Given the description of an element on the screen output the (x, y) to click on. 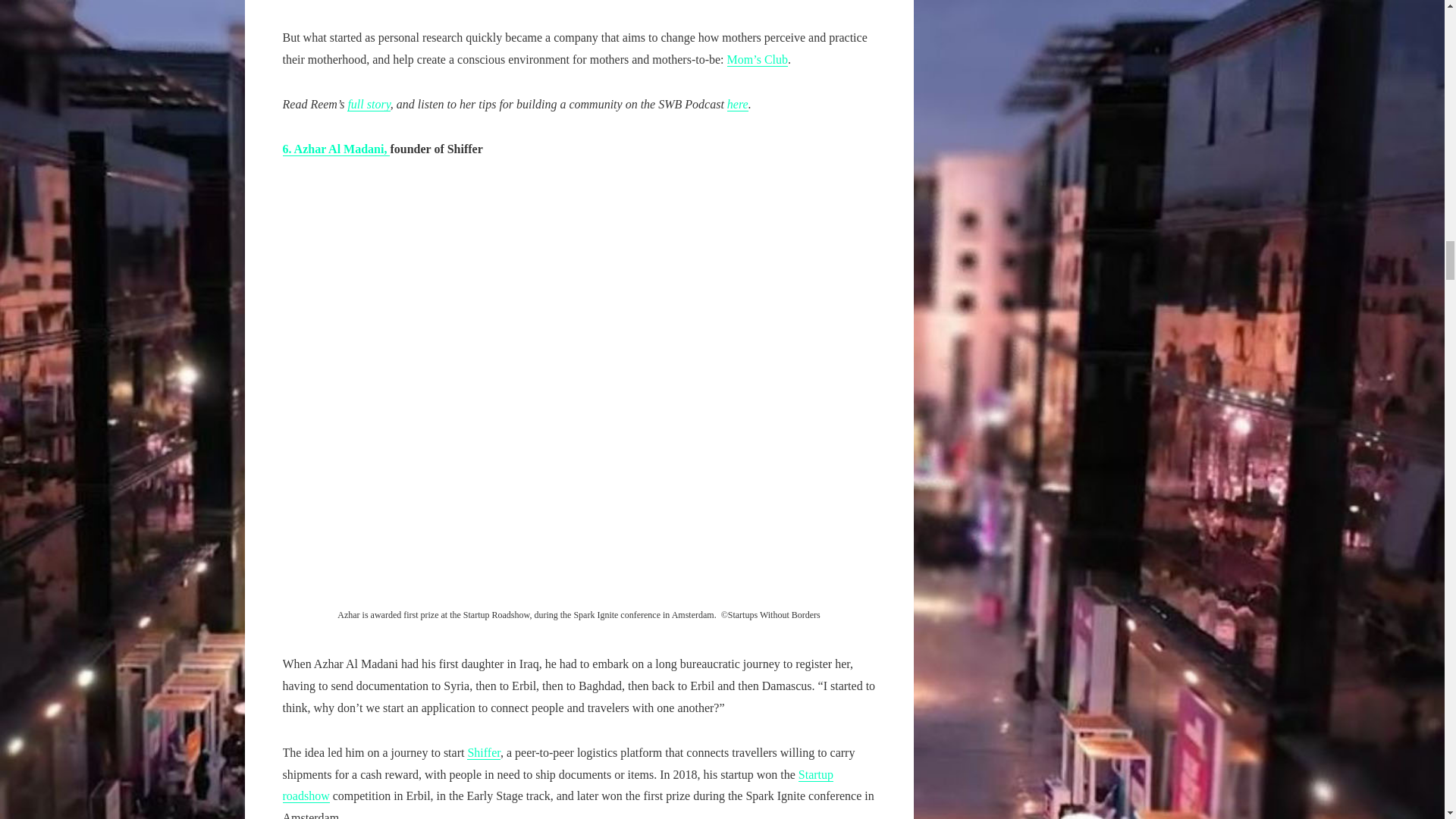
Shiffer (483, 753)
Startup roadshow (557, 785)
here (737, 104)
6. Azhar Al Madani, (336, 149)
full story (368, 104)
